Given the description of an element on the screen output the (x, y) to click on. 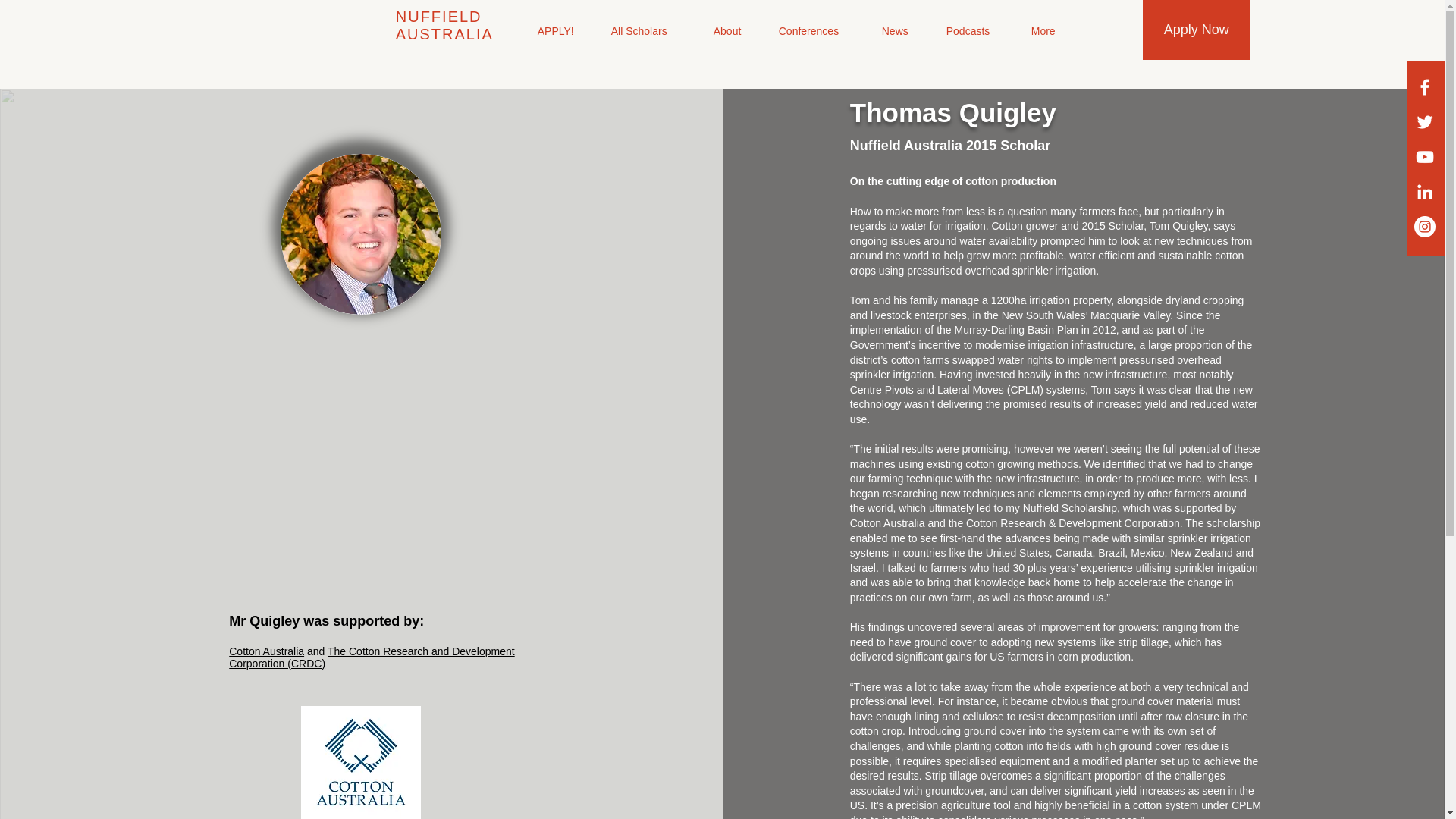
All Scholars (818, 29)
Thomas Hooke.jpeg.jpg (361, 233)
Conferences (997, 29)
AUSTRALIA (178, 27)
Cotton Australia logo - blue - high res. (360, 762)
About (907, 29)
NUFFIELD  (83, 27)
APPLY! (724, 29)
News (1087, 29)
